Given the description of an element on the screen output the (x, y) to click on. 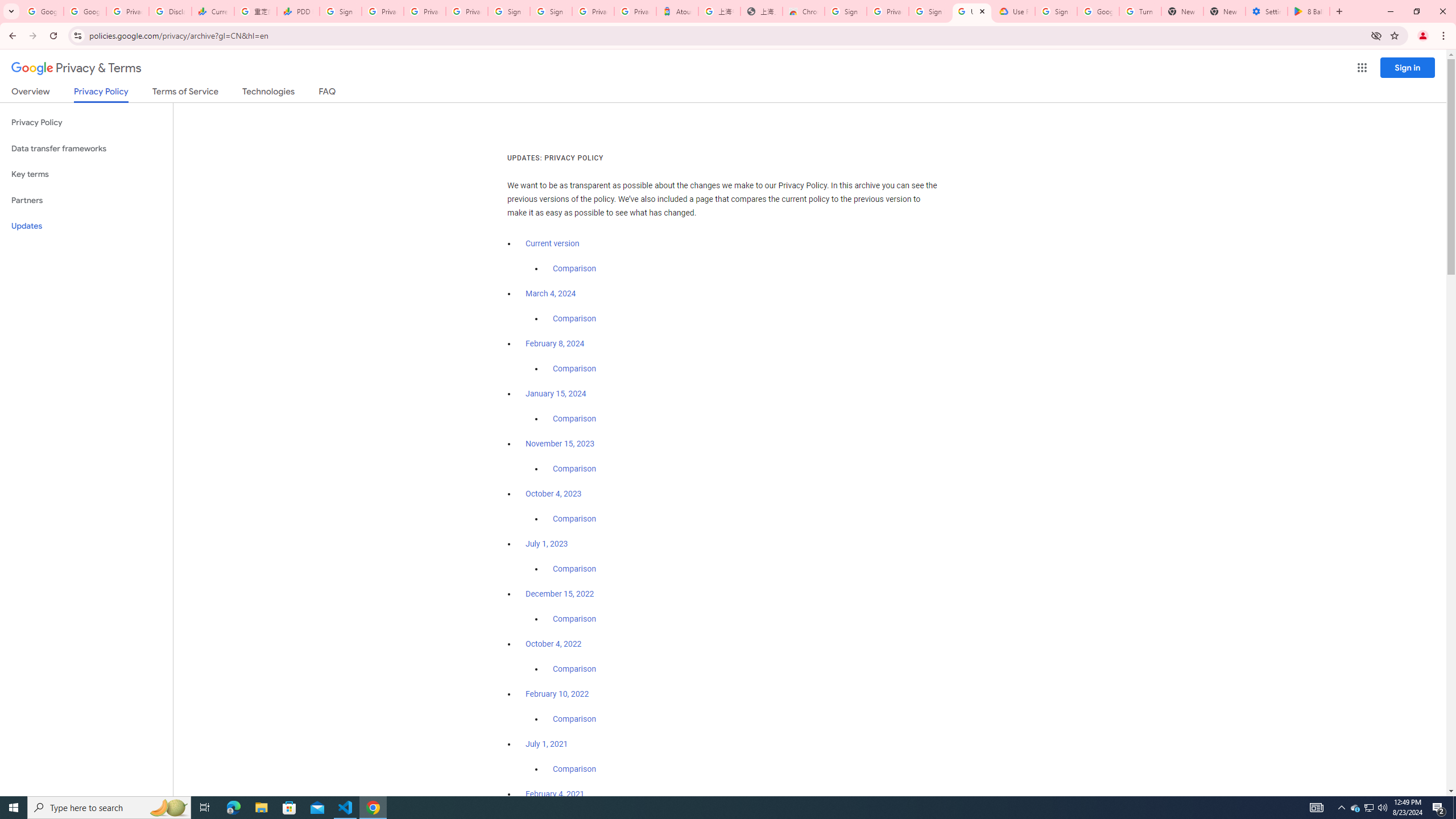
December 15, 2022 (559, 593)
Atour Hotel - Google hotels (676, 11)
Google Workspace Admin Community (42, 11)
March 4, 2024 (550, 293)
